Given the description of an element on the screen output the (x, y) to click on. 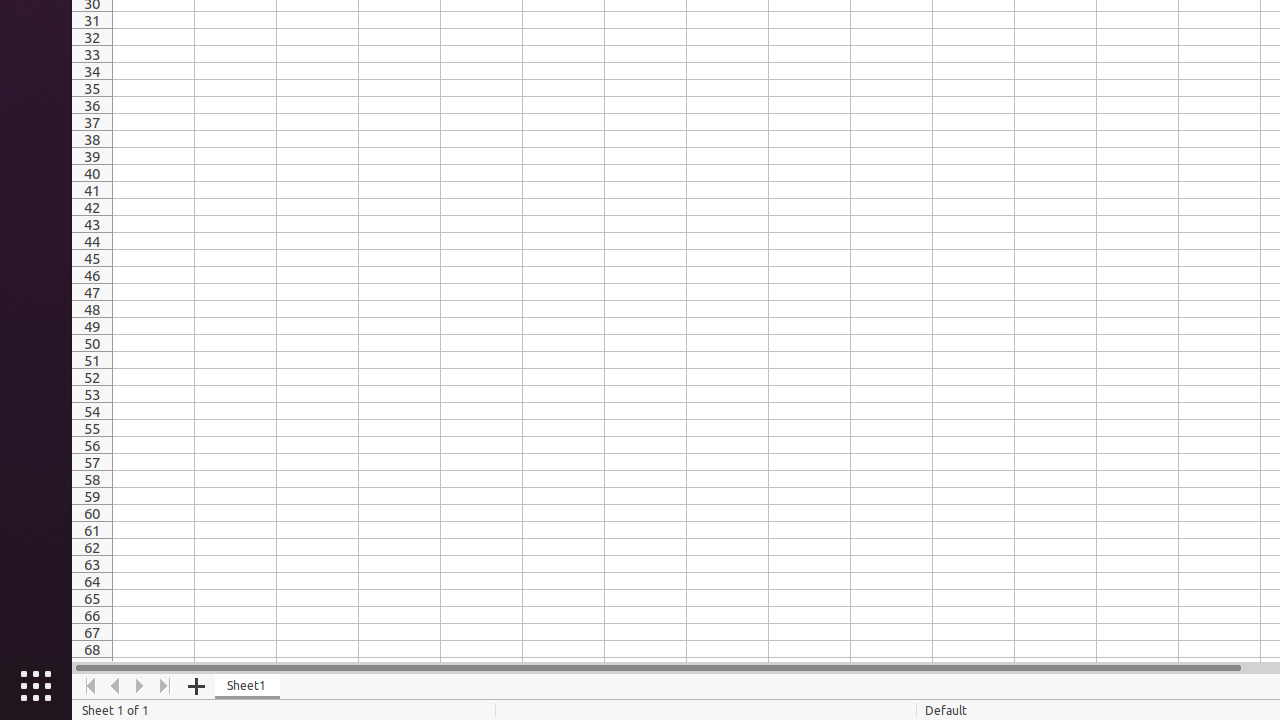
Move To End Element type: push-button (165, 686)
Move Right Element type: push-button (140, 686)
Sheet1 Element type: page-tab (247, 686)
Move To Home Element type: push-button (90, 686)
